Given the description of an element on the screen output the (x, y) to click on. 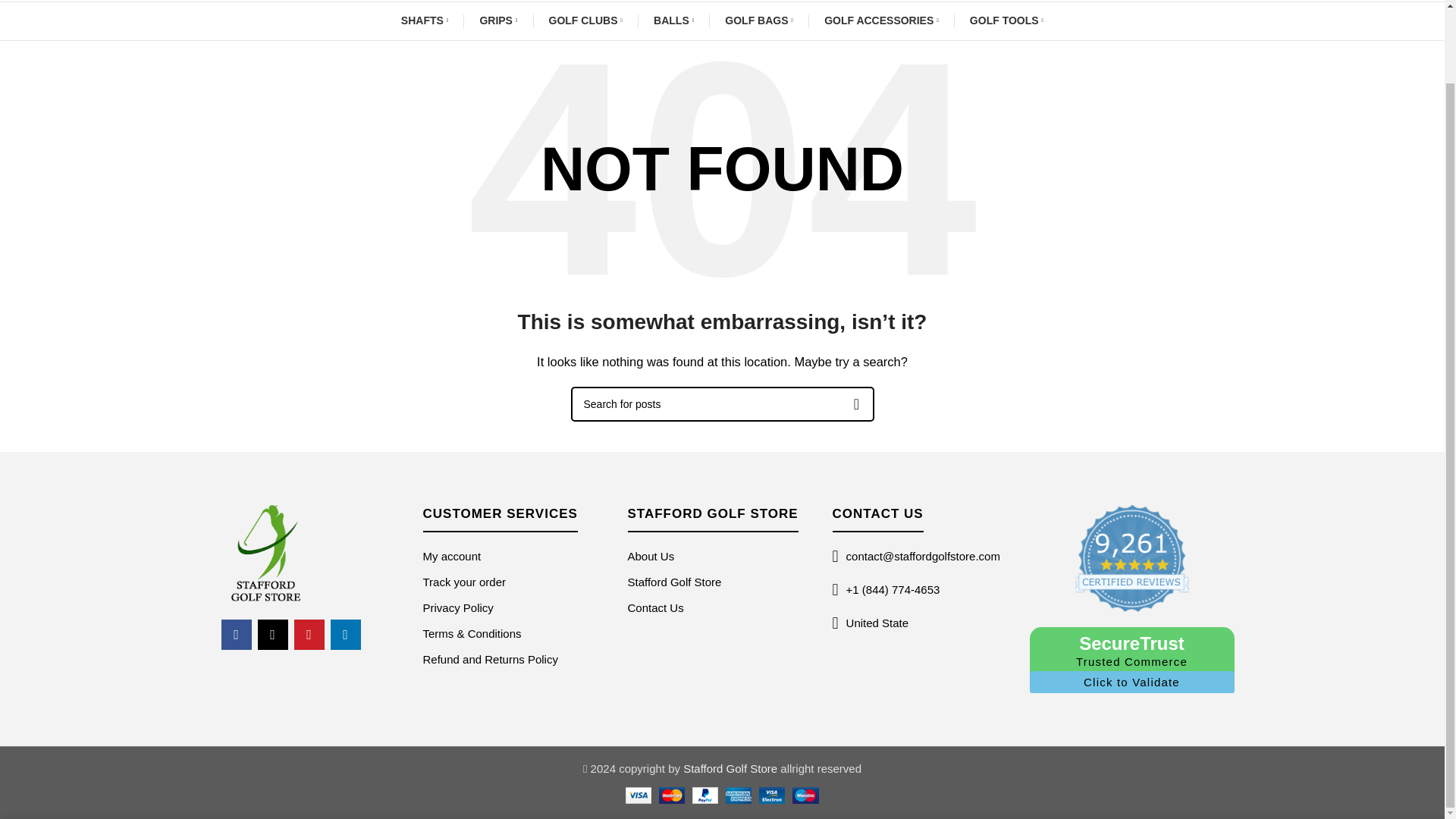
SHAFTS (424, 20)
Review (1132, 558)
Search for posts (721, 403)
